Given the description of an element on the screen output the (x, y) to click on. 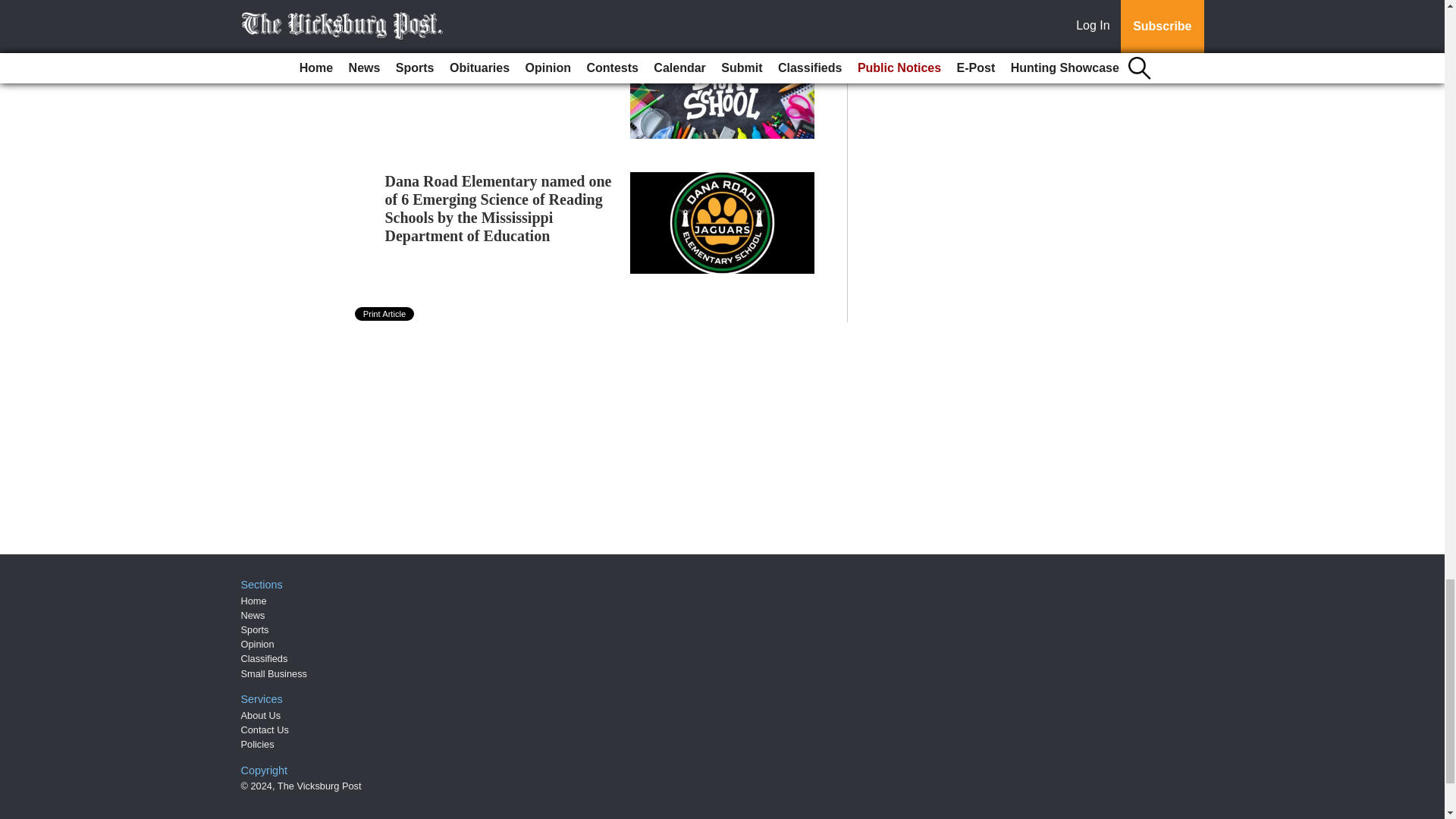
Print Article (384, 314)
